Given the description of an element on the screen output the (x, y) to click on. 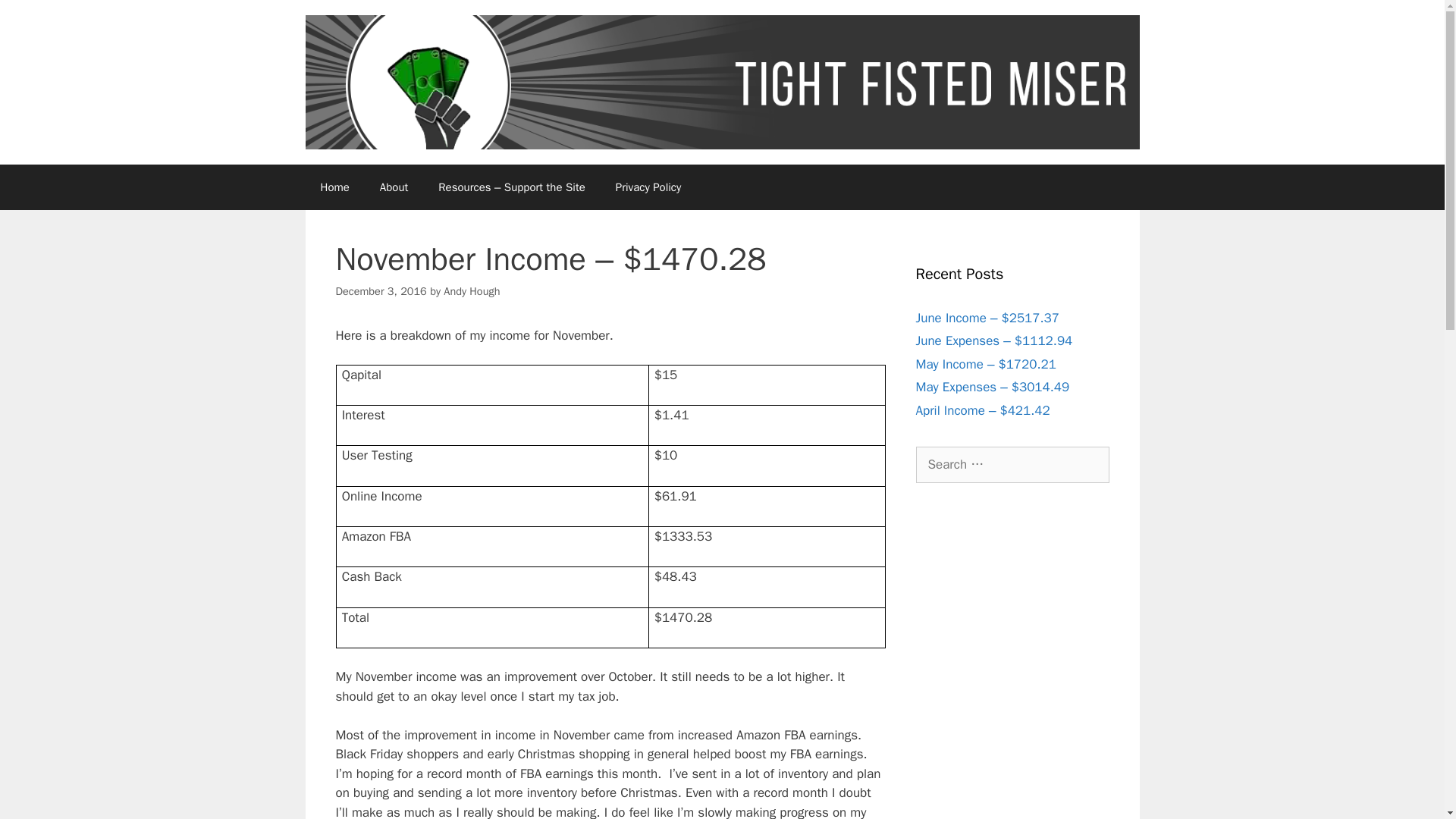
Andy Hough (471, 291)
Privacy Policy (648, 186)
Search (35, 18)
Home (334, 186)
View all posts by Andy Hough (471, 291)
About (394, 186)
Search for: (1012, 464)
